Given the description of an element on the screen output the (x, y) to click on. 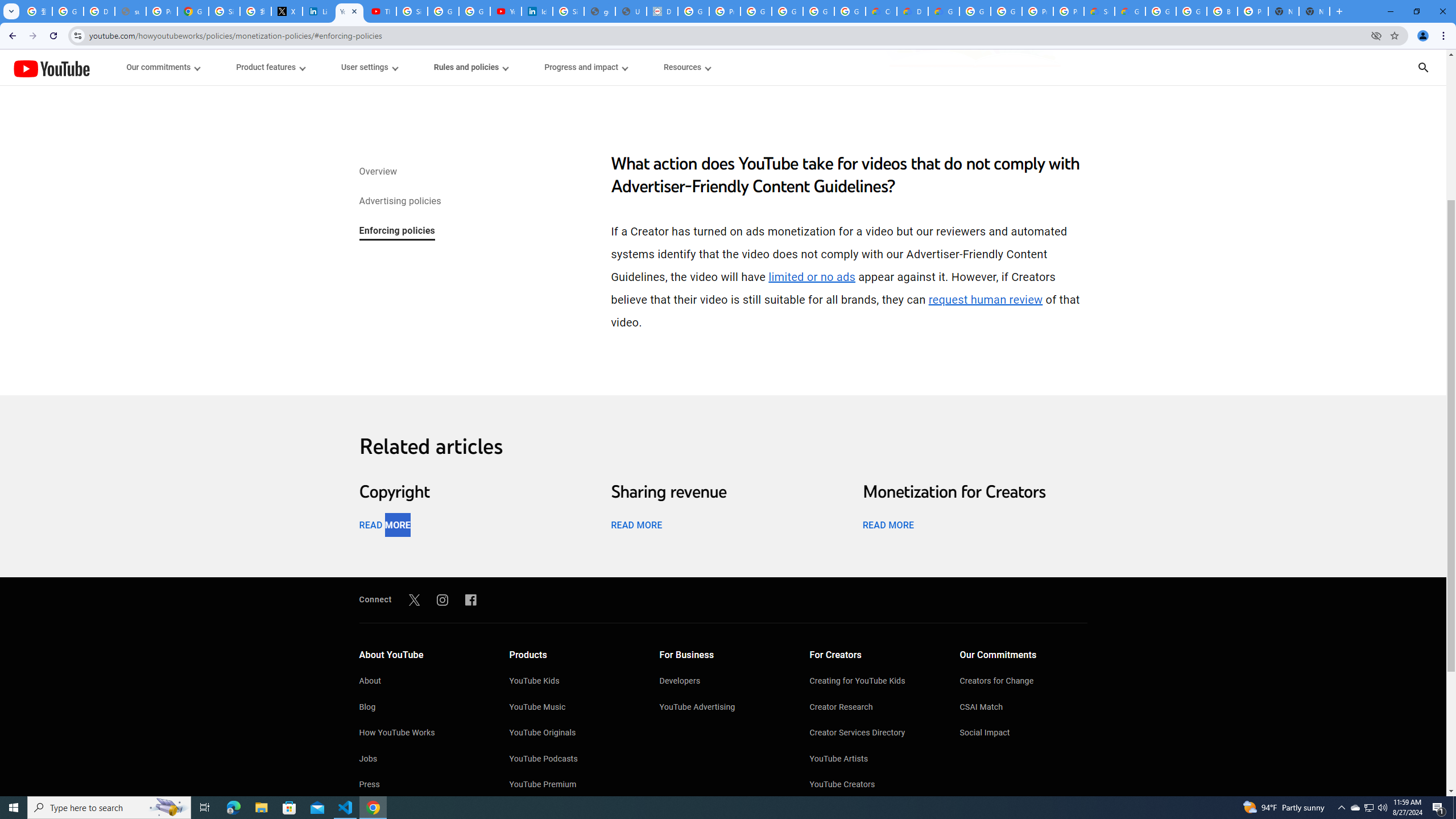
Gemini for Business and Developers | Google Cloud (943, 11)
Sign in - Google Accounts (411, 11)
Instagram (442, 599)
YouTube Podcasts (573, 759)
Support Hub | Google Cloud (1098, 11)
support.google.com - Network error (130, 11)
